Given the description of an element on the screen output the (x, y) to click on. 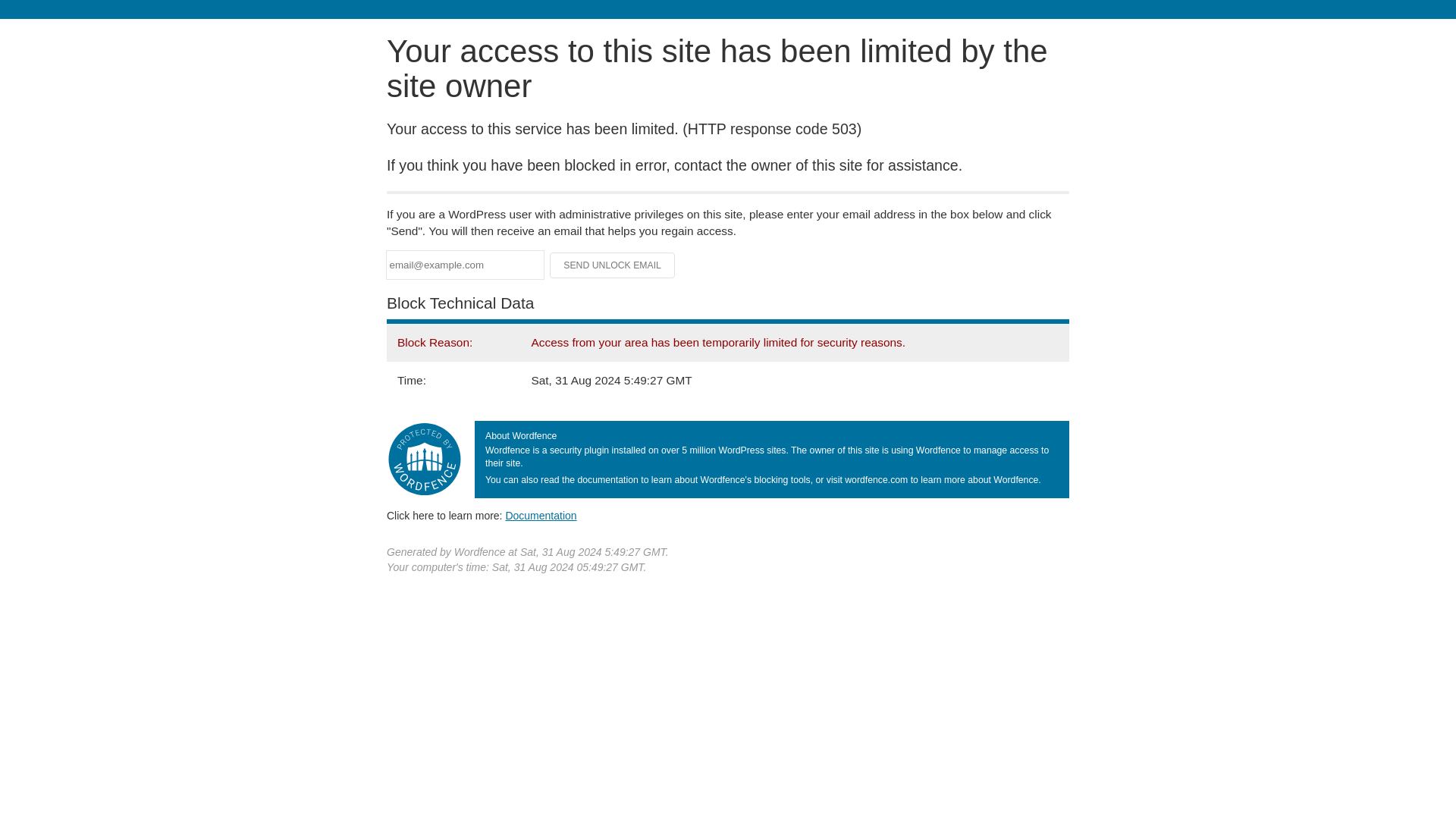
Send Unlock Email (612, 265)
Send Unlock Email (612, 265)
Documentation (540, 515)
